Given the description of an element on the screen output the (x, y) to click on. 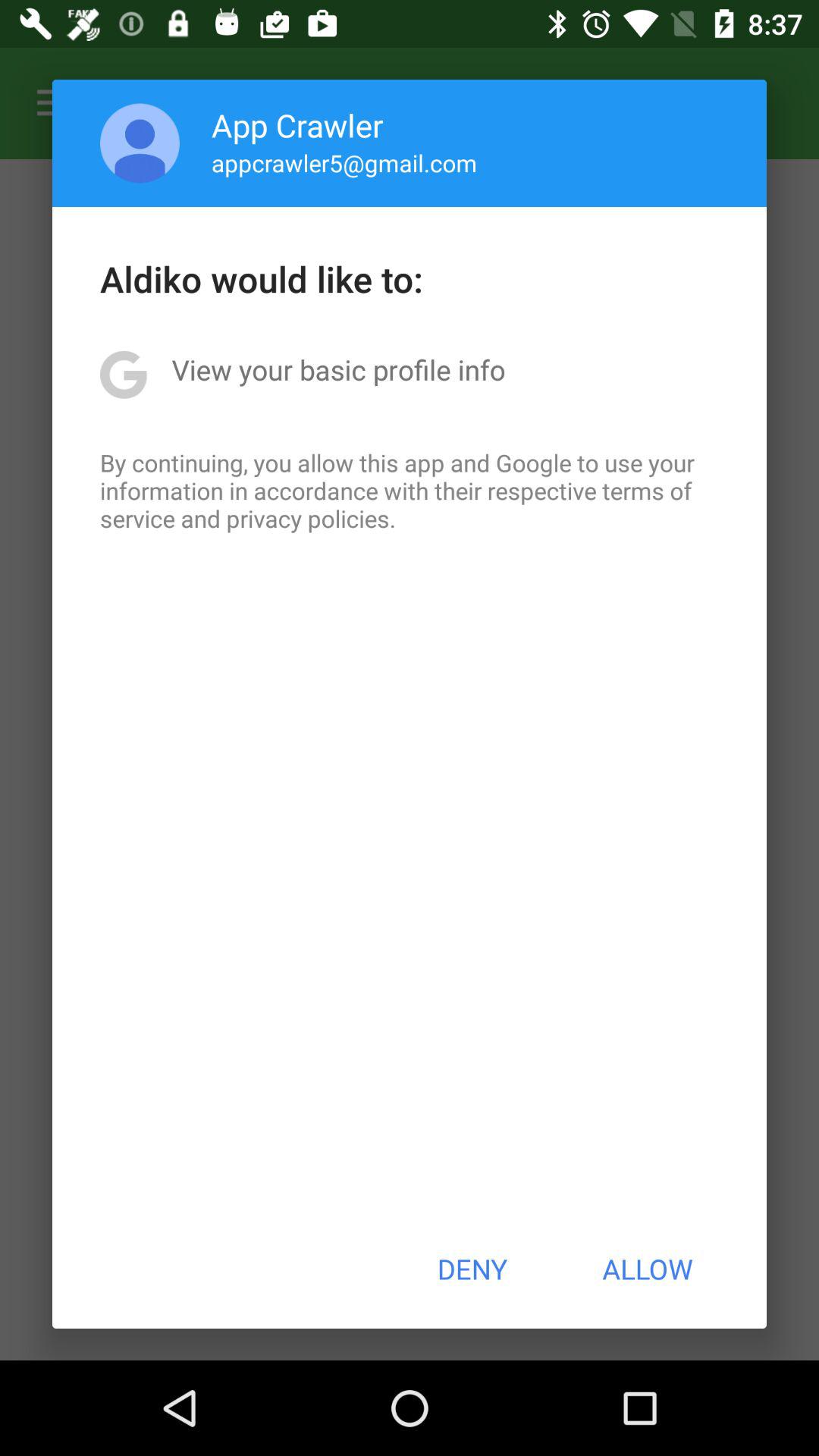
choose the icon below the app crawler (344, 162)
